Given the description of an element on the screen output the (x, y) to click on. 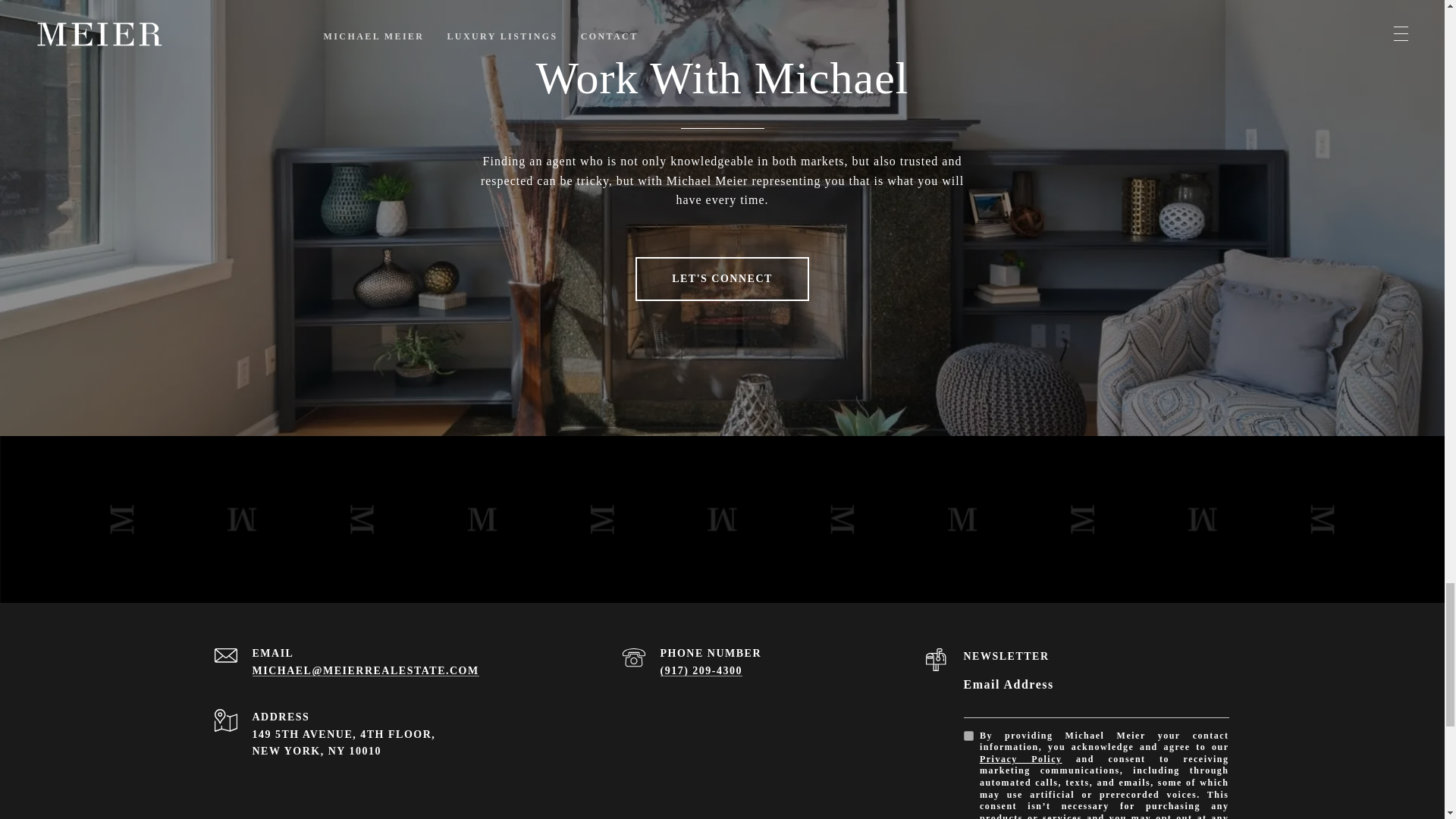
on (967, 736)
LET'S CONNECT (721, 279)
Privacy Policy (1020, 758)
